Given the description of an element on the screen output the (x, y) to click on. 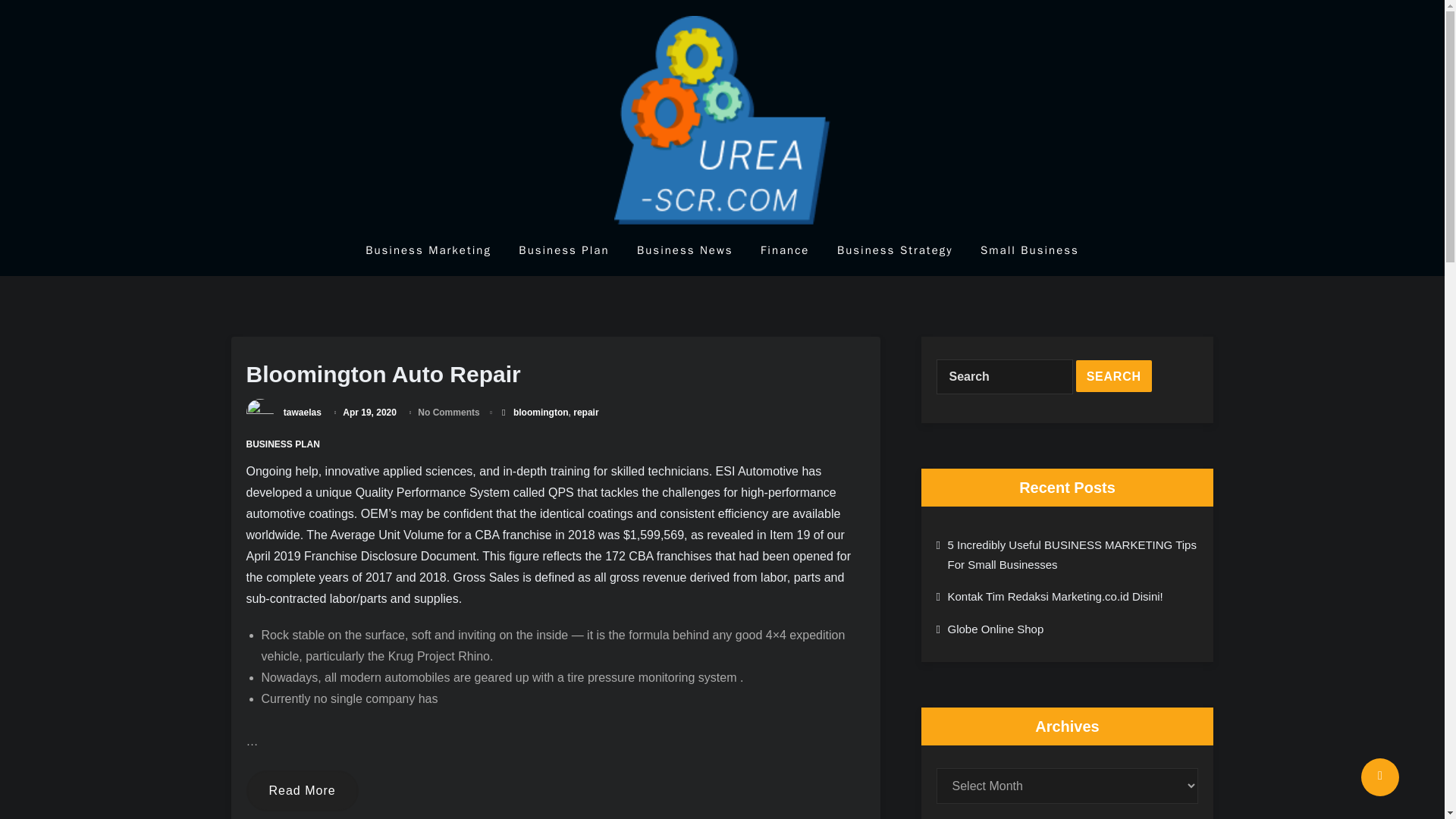
Business Strategy (895, 249)
Read More (302, 790)
Kontak Tim Redaksi Marketing.co.id Disini! (1055, 595)
repair (585, 412)
BUSINESS PLAN (282, 443)
Small Business (1028, 249)
Bloomington Auto Repair (382, 373)
Search (1113, 376)
Search (1113, 376)
